Given the description of an element on the screen output the (x, y) to click on. 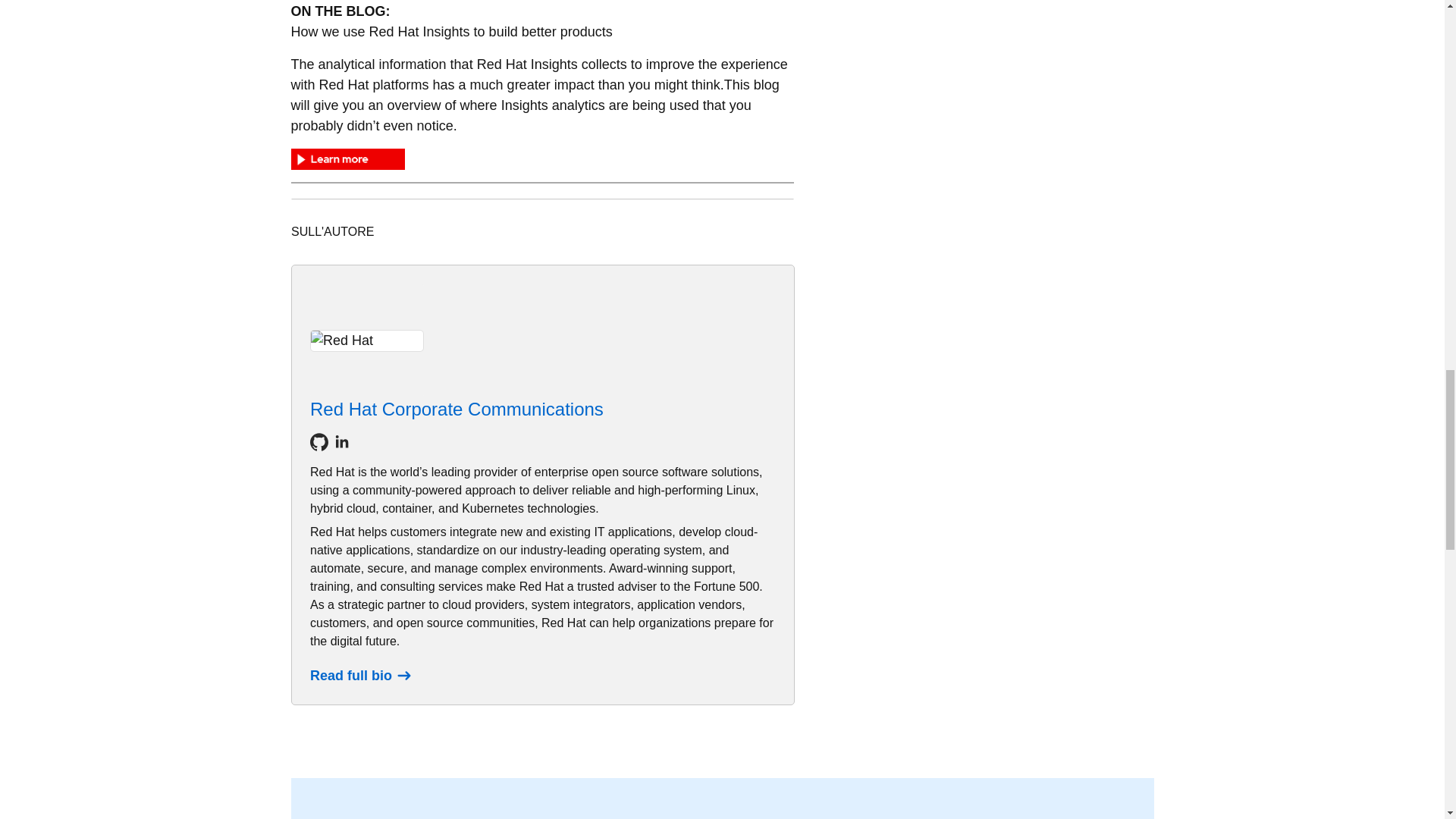
Follow Red Hat Corporate Communications LinkedIn (341, 442)
Follow Red Hat Corporate Communications on Github (317, 442)
